Given the description of an element on the screen output the (x, y) to click on. 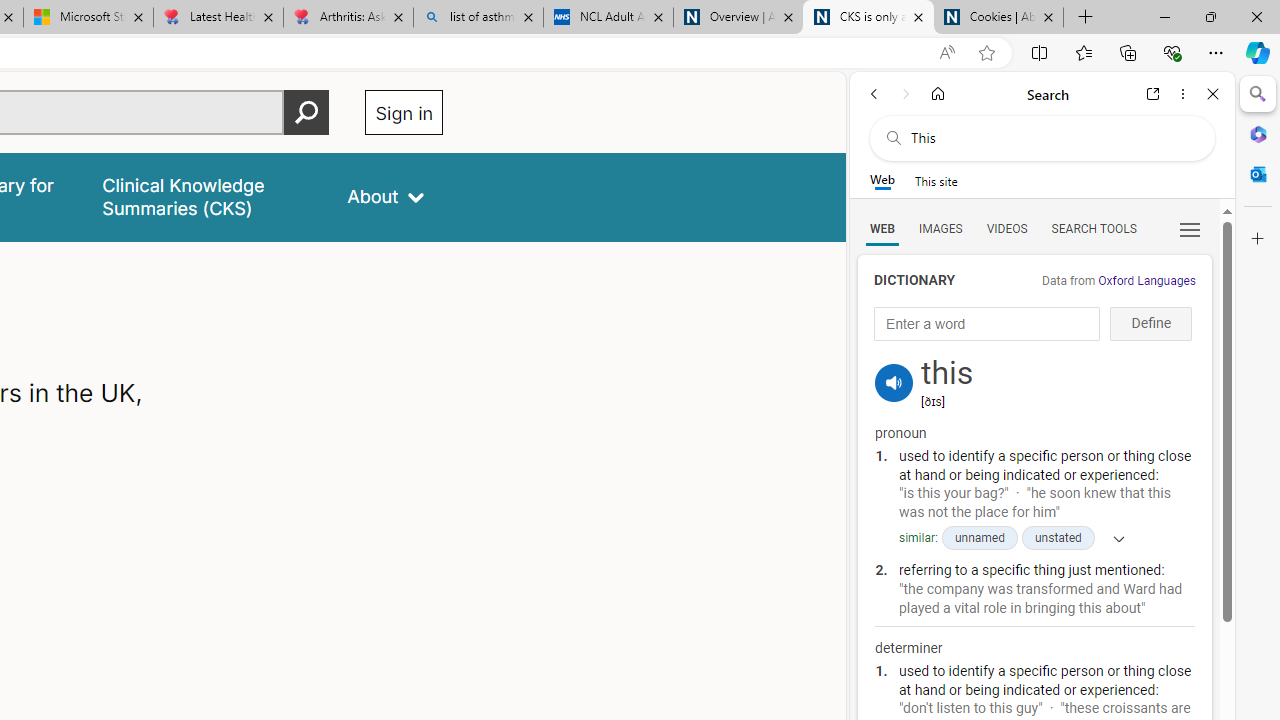
Cookies | About | NICE (998, 17)
Oxford Languages (1146, 281)
